Given the description of an element on the screen output the (x, y) to click on. 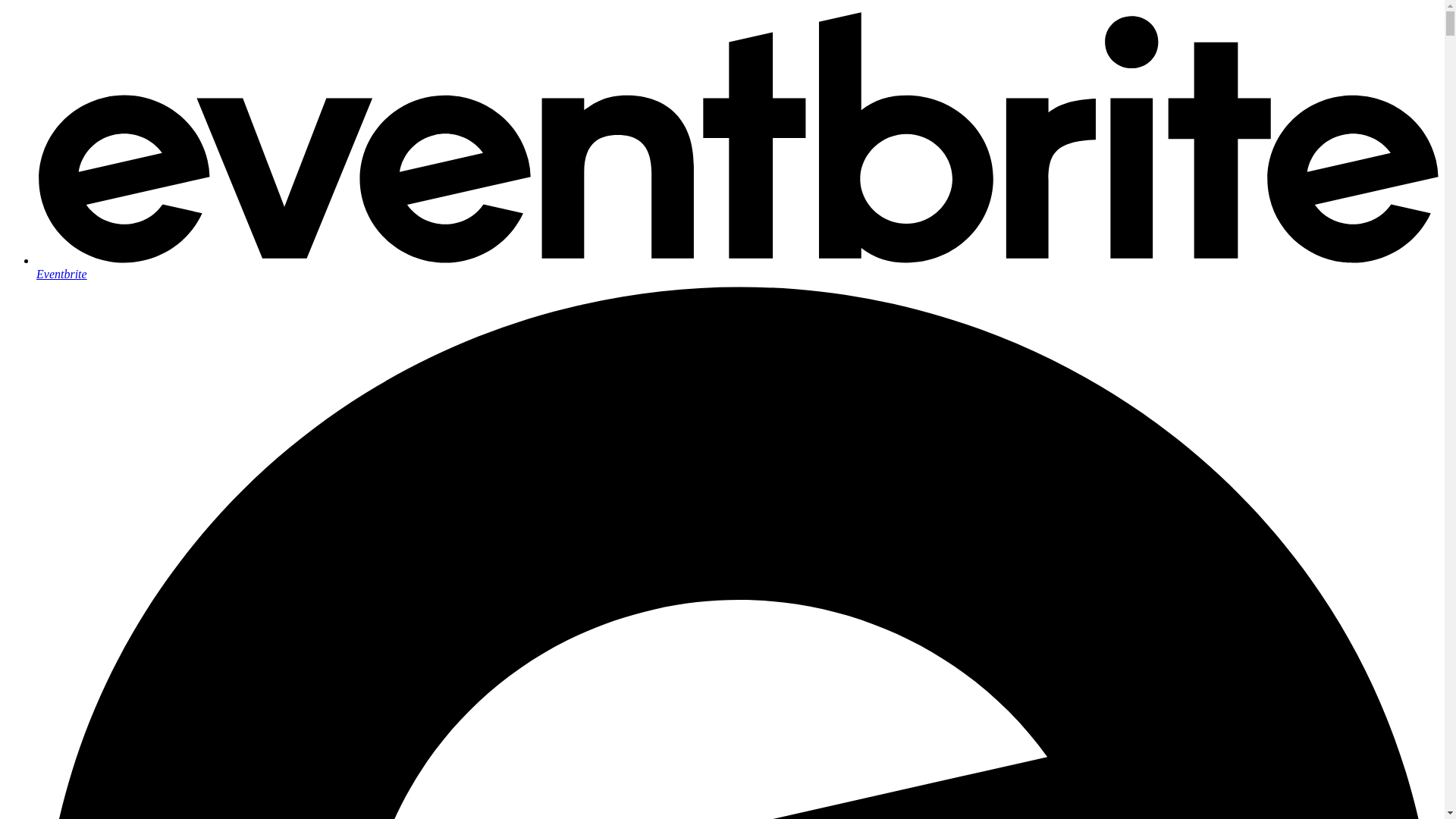
Eventbrite Element type: text (737, 267)
